Given the description of an element on the screen output the (x, y) to click on. 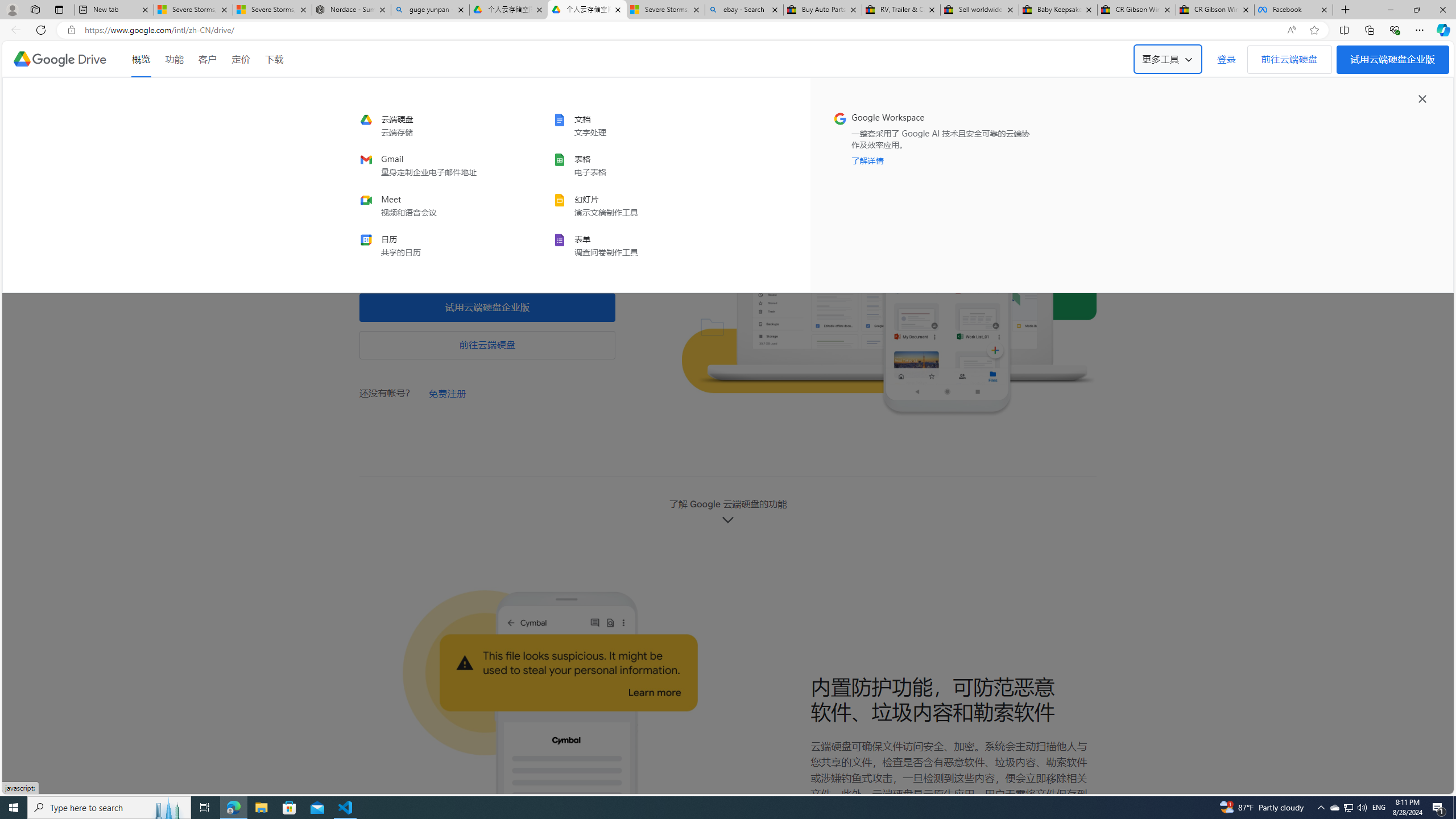
drive-hero (888, 276)
sheets (627, 165)
docs (627, 125)
drive (435, 125)
